Given the description of an element on the screen output the (x, y) to click on. 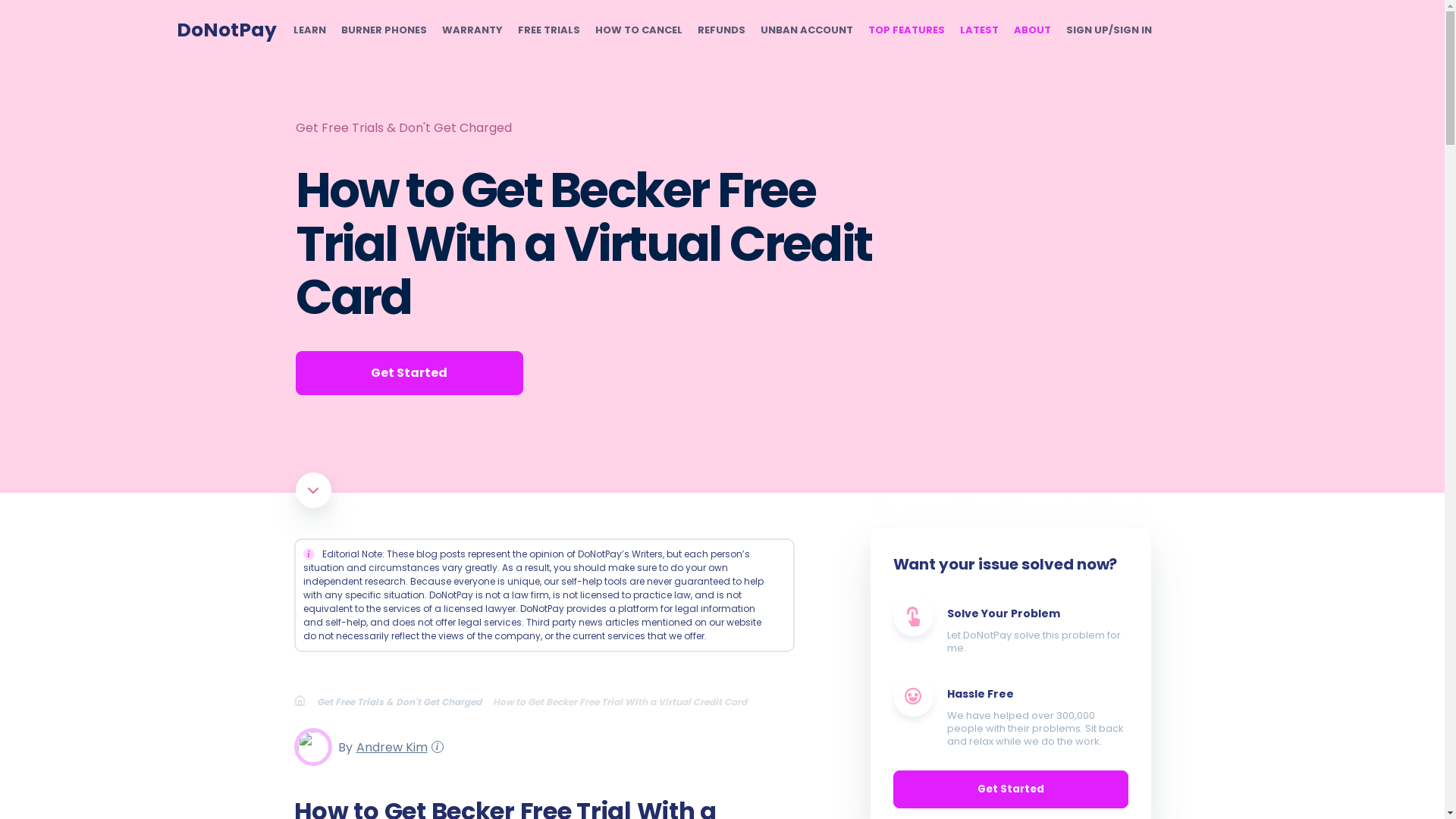
Get Started (408, 372)
LEARN (308, 29)
DoNotPay (226, 29)
BURNER PHONES (383, 29)
TOP FEATURES (905, 29)
FREE TRIALS (547, 29)
ABOUT (1031, 29)
REFUNDS (721, 29)
LATEST (978, 29)
UNBAN ACCOUNT (805, 29)
